Given the description of an element on the screen output the (x, y) to click on. 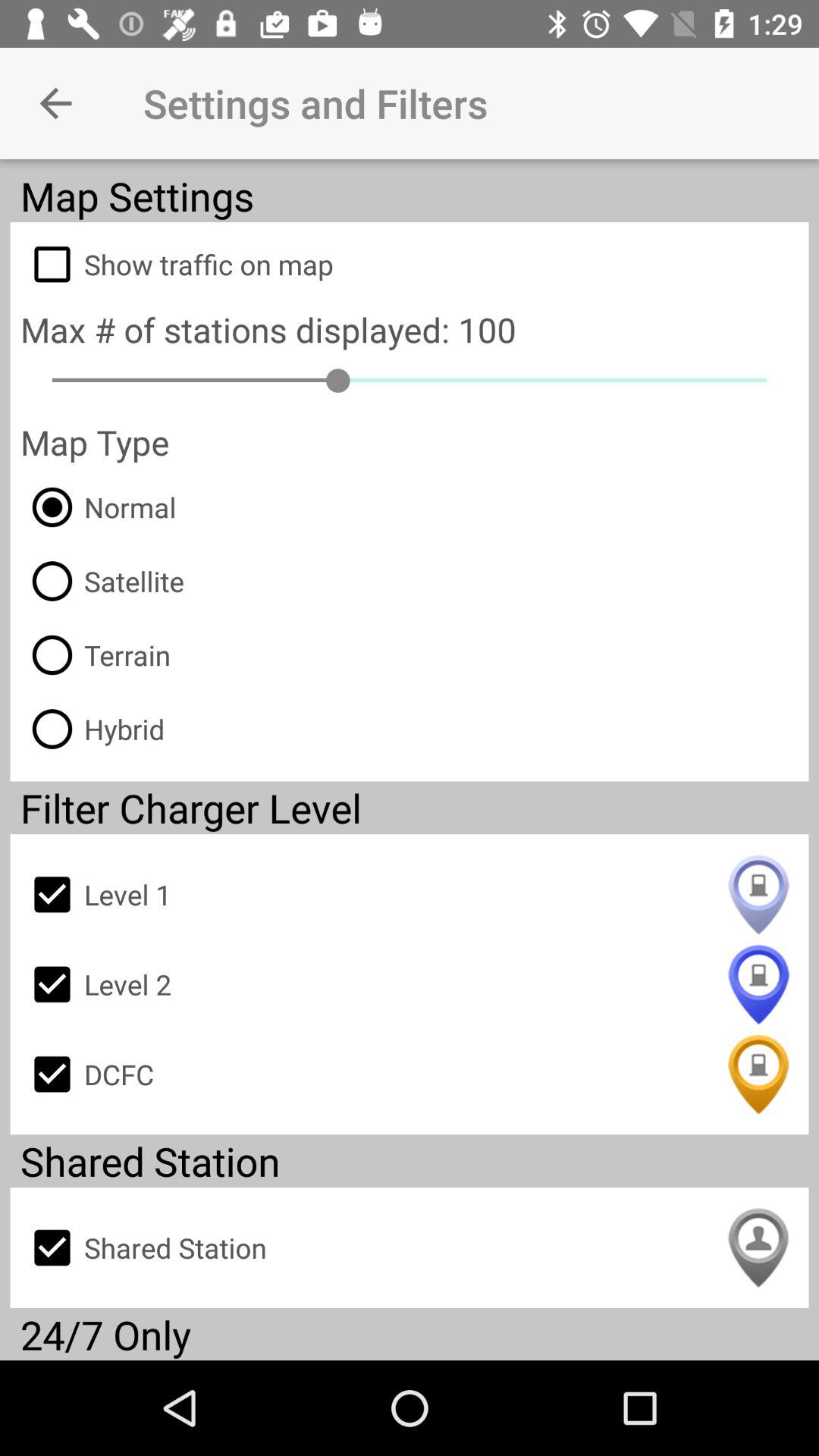
turn on icon below level 2 (409, 1074)
